Given the description of an element on the screen output the (x, y) to click on. 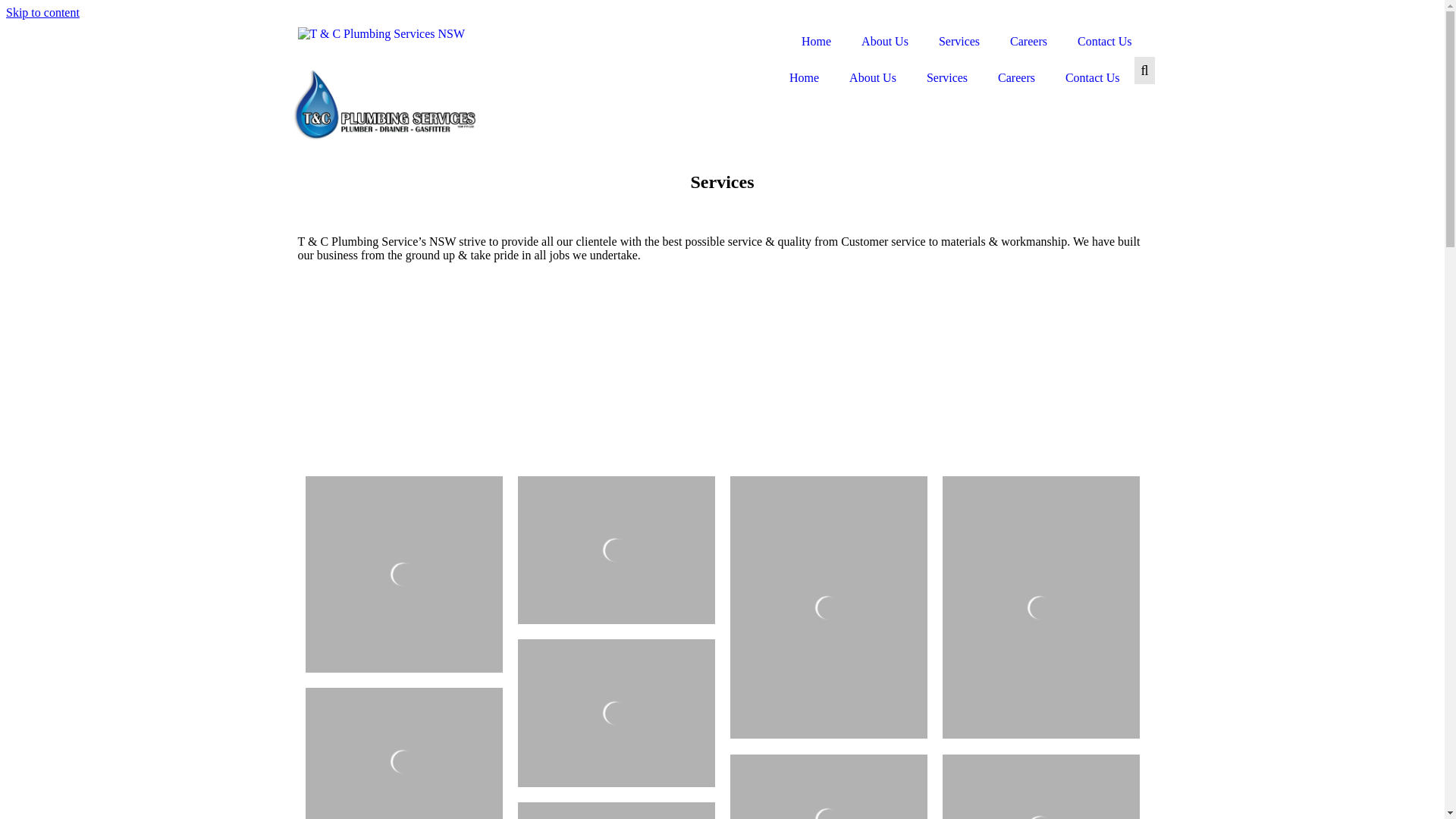
About Us Element type: text (884, 41)
Skip to content Element type: text (42, 12)
Services Element type: text (958, 41)
Careers Element type: text (1016, 77)
Home Element type: text (804, 77)
Home Element type: text (816, 41)
Careers Element type: text (1028, 41)
Contact Us Element type: text (1104, 41)
Services Element type: text (946, 77)
Contact Us Element type: text (1092, 77)
About Us Element type: text (872, 77)
